Given the description of an element on the screen output the (x, y) to click on. 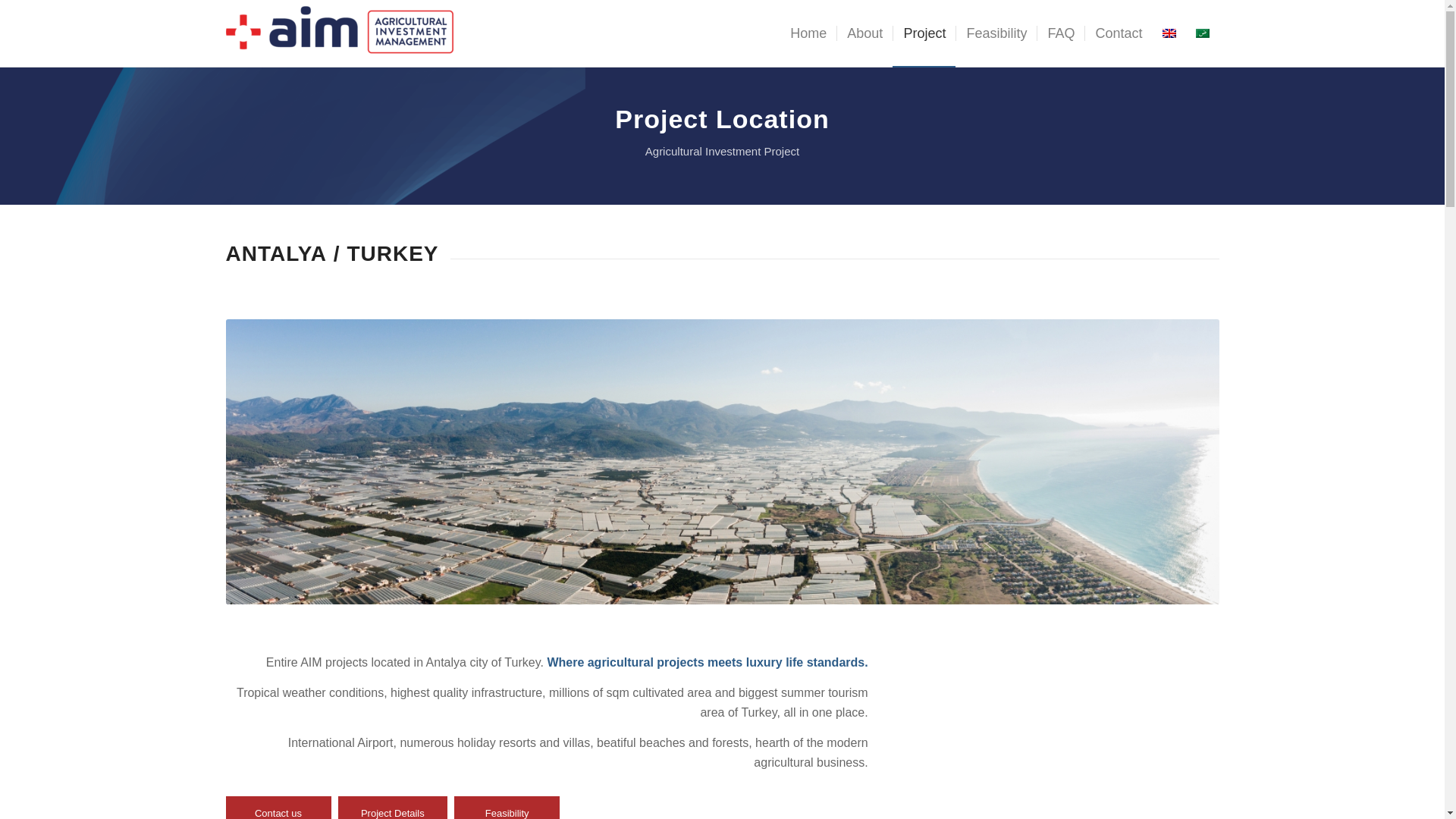
Feasibility (506, 807)
Contact (1117, 33)
Feasibility (995, 33)
Project (923, 33)
Project Details (391, 807)
Contact us (278, 807)
